Given the description of an element on the screen output the (x, y) to click on. 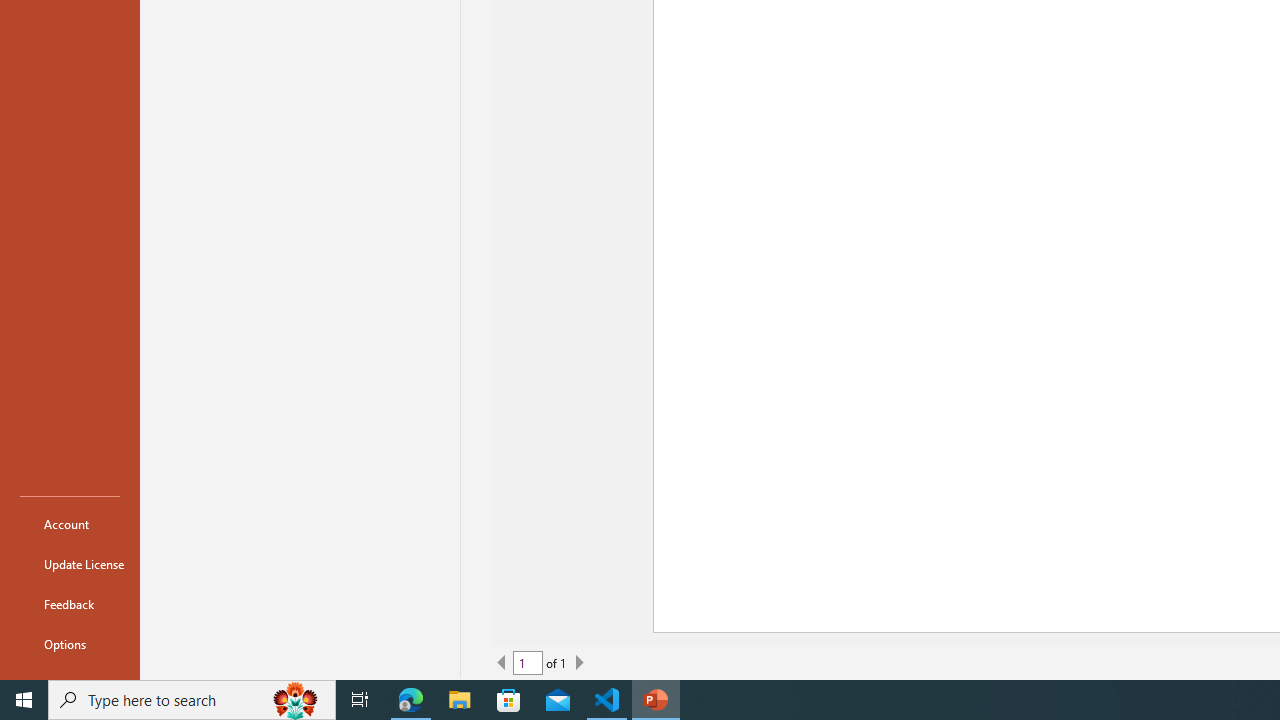
Account (69, 523)
Previous Page (502, 662)
Options (69, 643)
Current Page (527, 662)
Next Page (579, 662)
Feedback (69, 603)
Update License (69, 563)
